Given the description of an element on the screen output the (x, y) to click on. 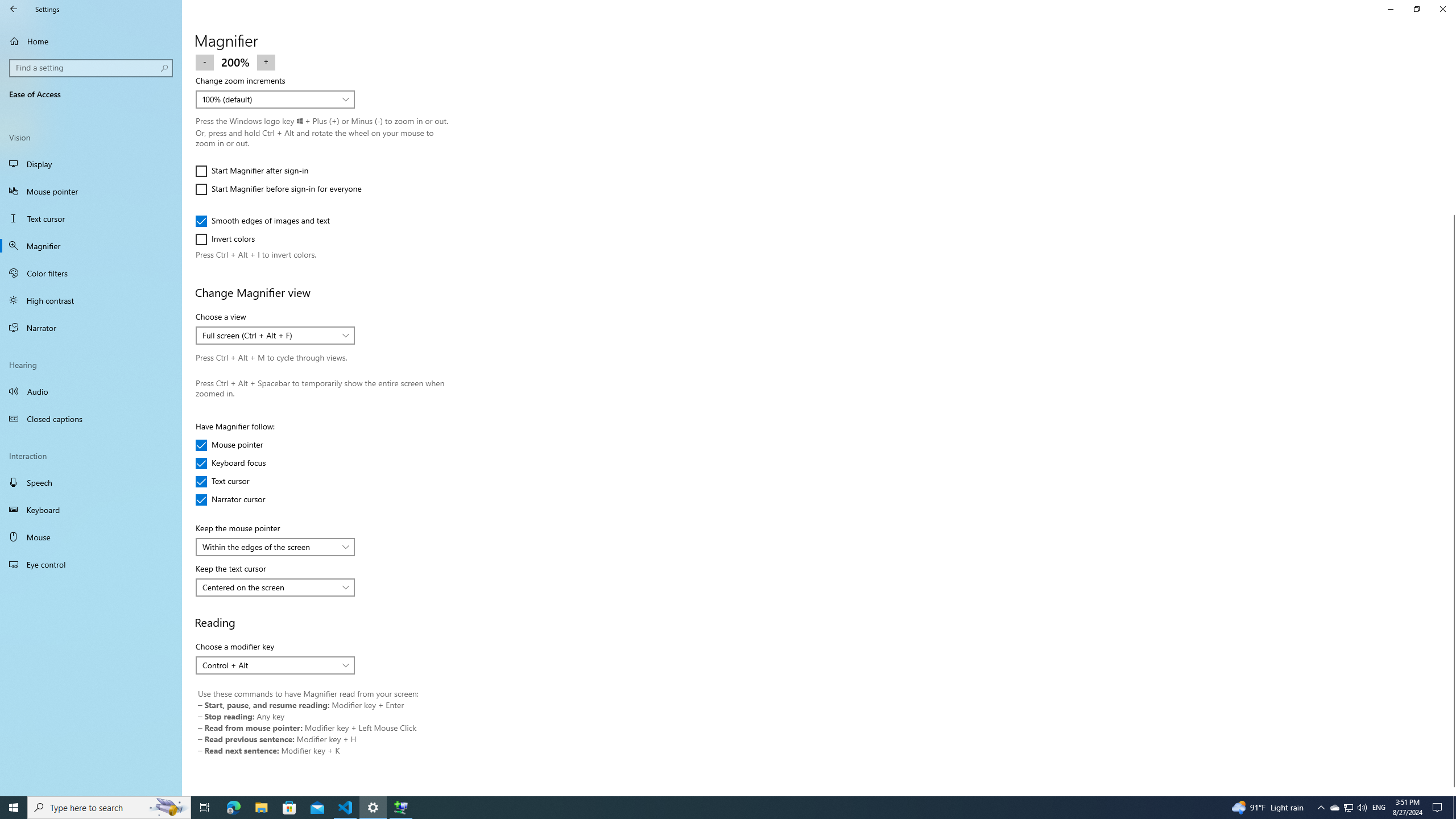
Narrator (91, 327)
Full screen (Ctrl + Alt + F) (269, 335)
Mouse pointer (229, 445)
Narrator cursor (229, 499)
Audio (91, 390)
Color filters (91, 272)
Display (91, 163)
Keep the mouse pointer (275, 547)
Vertical Small Increase (1451, 791)
